Given the description of an element on the screen output the (x, y) to click on. 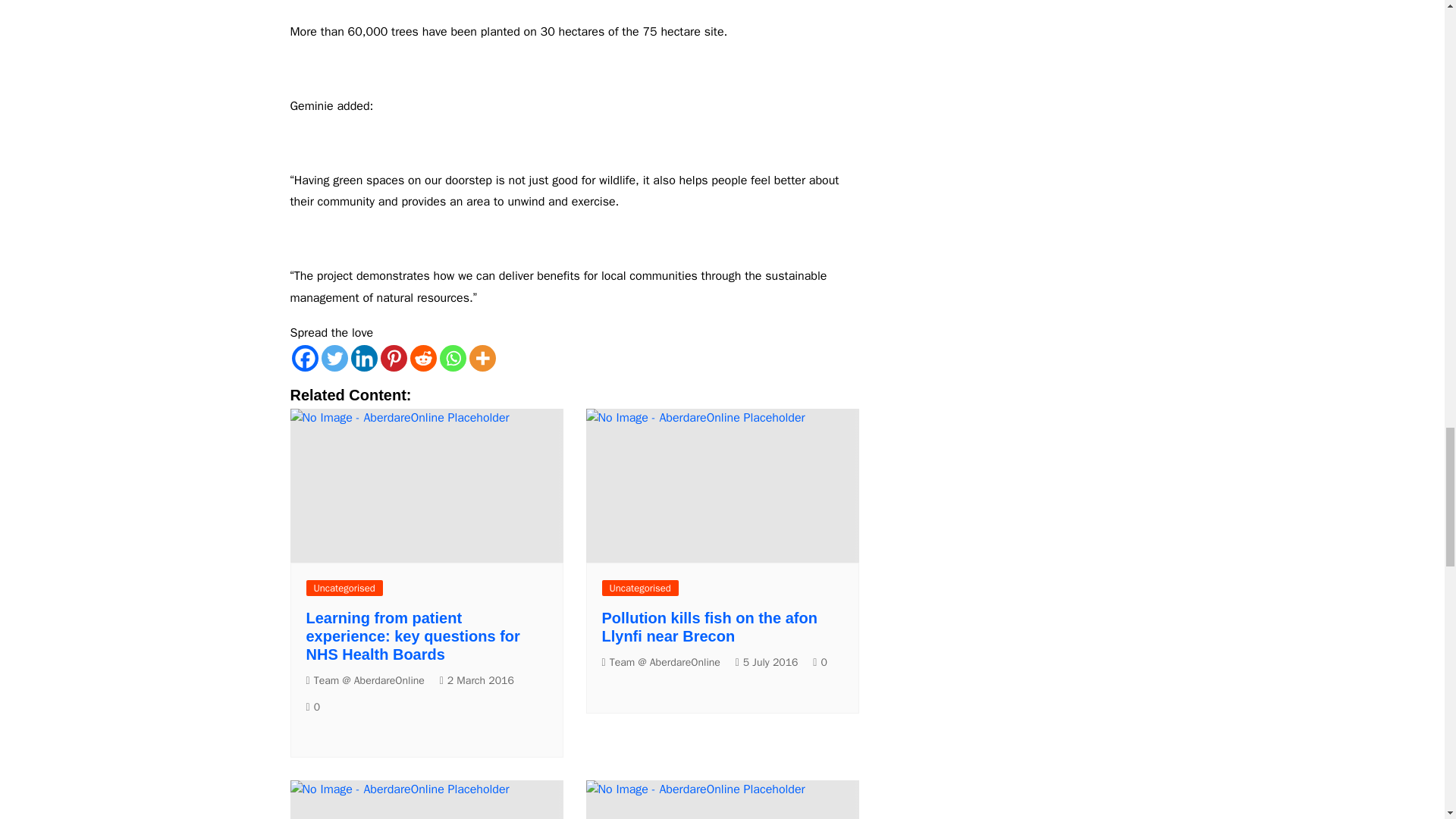
Twitter (334, 357)
Reddit (422, 357)
Pinterest (393, 357)
Uncategorised (640, 587)
Uncategorised (343, 587)
Linkedin (363, 357)
2 March 2016 (476, 680)
Whatsapp (452, 357)
More (481, 357)
